Given the description of an element on the screen output the (x, y) to click on. 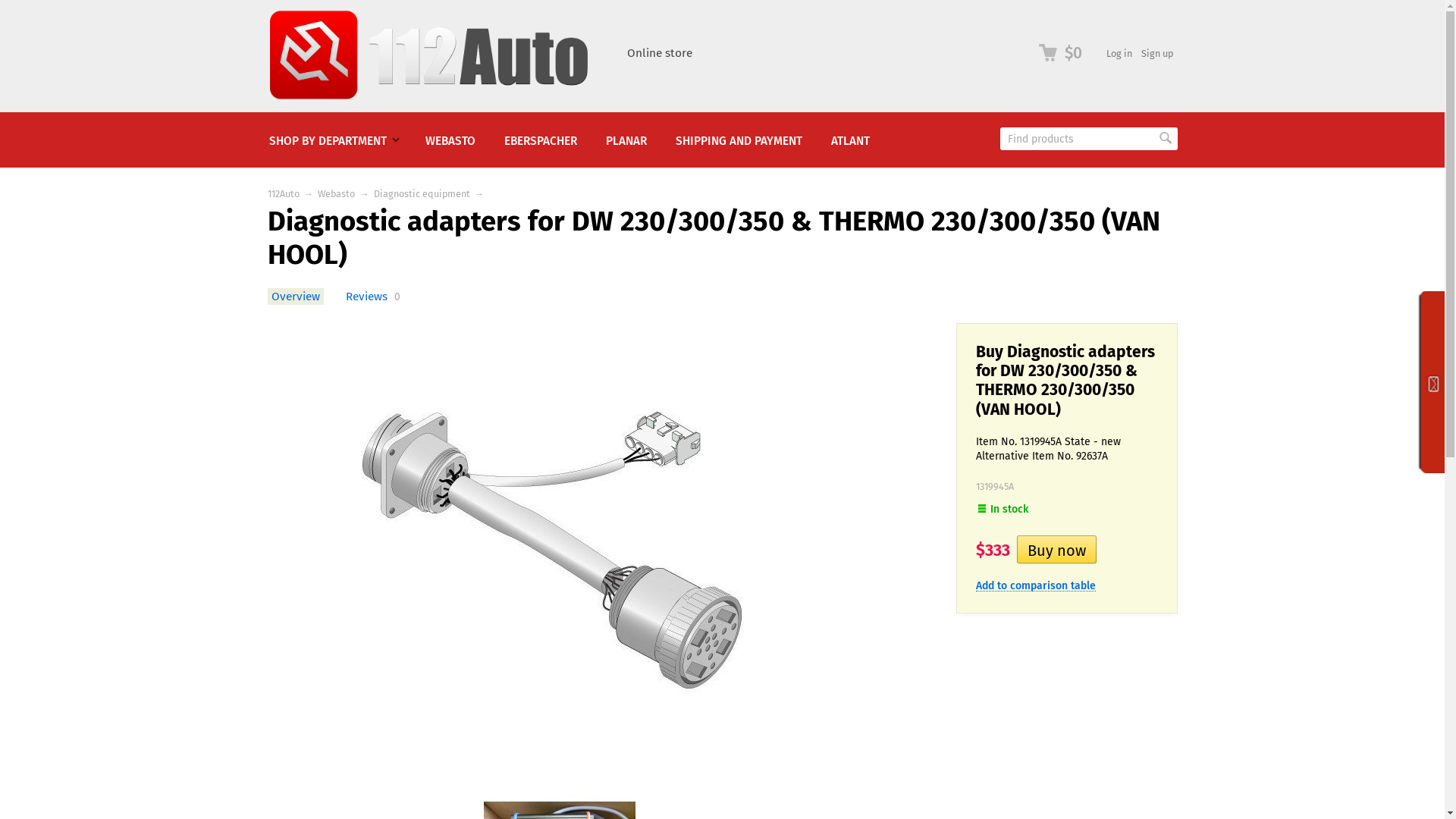
Overview Element type: text (294, 296)
$0 Element type: text (1060, 52)
EBERSPACHER Element type: text (540, 140)
PLANAR Element type: text (626, 140)
Diagnostic equipment Element type: text (421, 193)
Reviews Element type: text (365, 296)
Webasto Element type: text (335, 193)
Online store Element type: text (658, 52)
Log in Element type: text (1118, 52)
112Auto Element type: text (282, 193)
SHOP BY DEPARTMENT Element type: text (332, 140)
Sign up Element type: text (1155, 52)
ATLANT Element type: text (849, 140)
Buy now Element type: text (1055, 549)
SHIPPING AND PAYMENT Element type: text (738, 140)
WEBASTO Element type: text (450, 140)
Add to comparison table Element type: text (1035, 584)
